Given the description of an element on the screen output the (x, y) to click on. 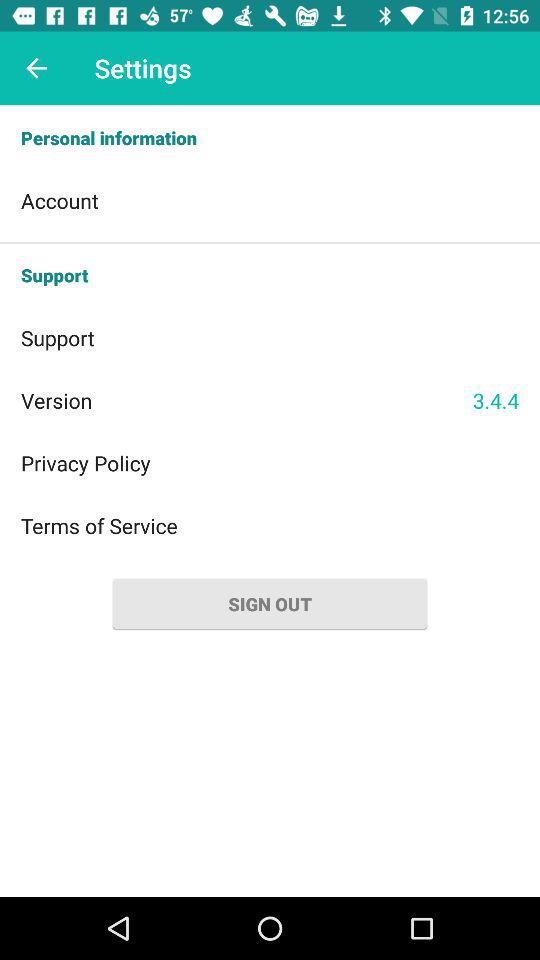
open personal information (270, 137)
